Given the description of an element on the screen output the (x, y) to click on. 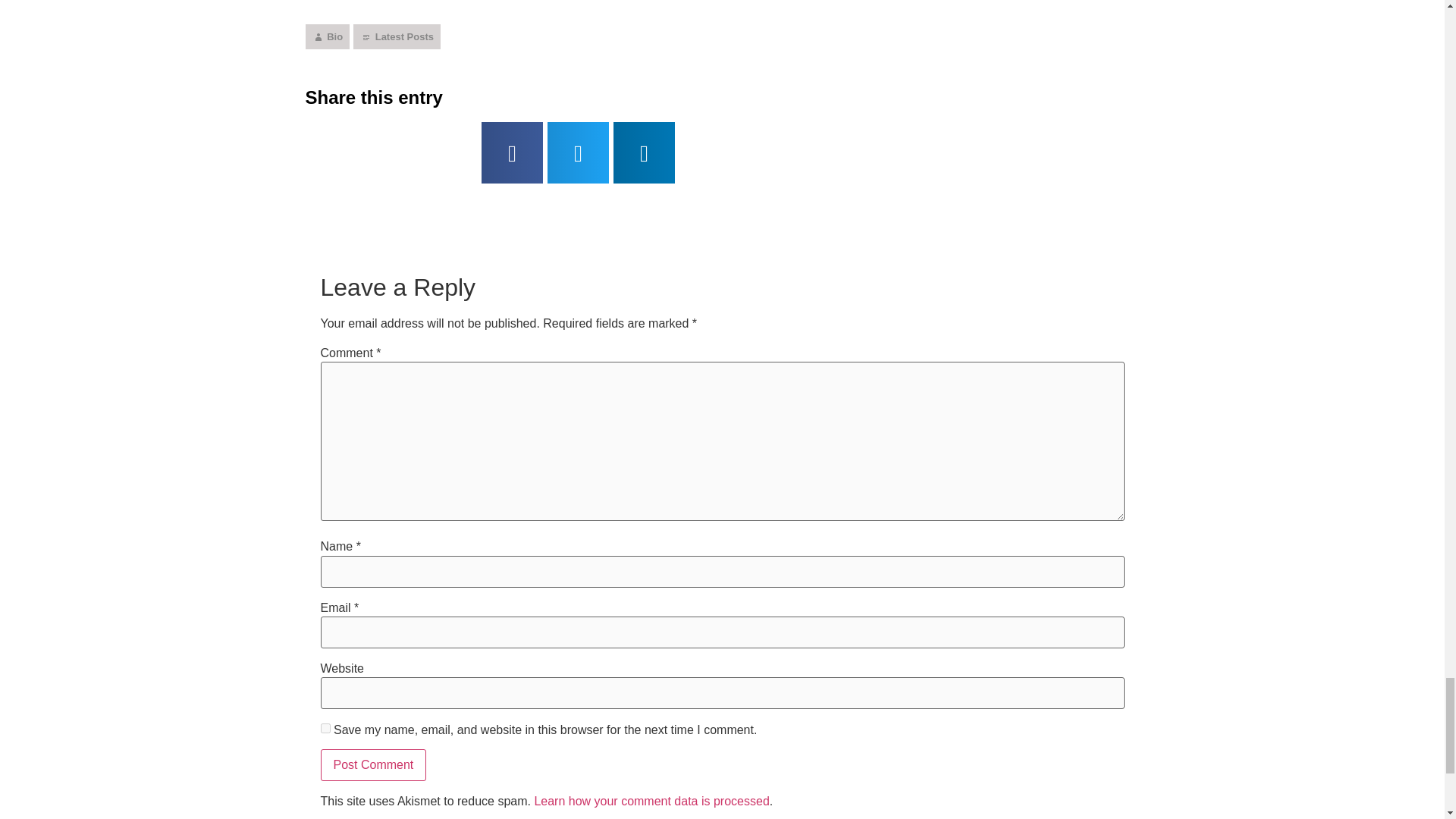
Post Comment (373, 765)
yes (325, 728)
